Given the description of an element on the screen output the (x, y) to click on. 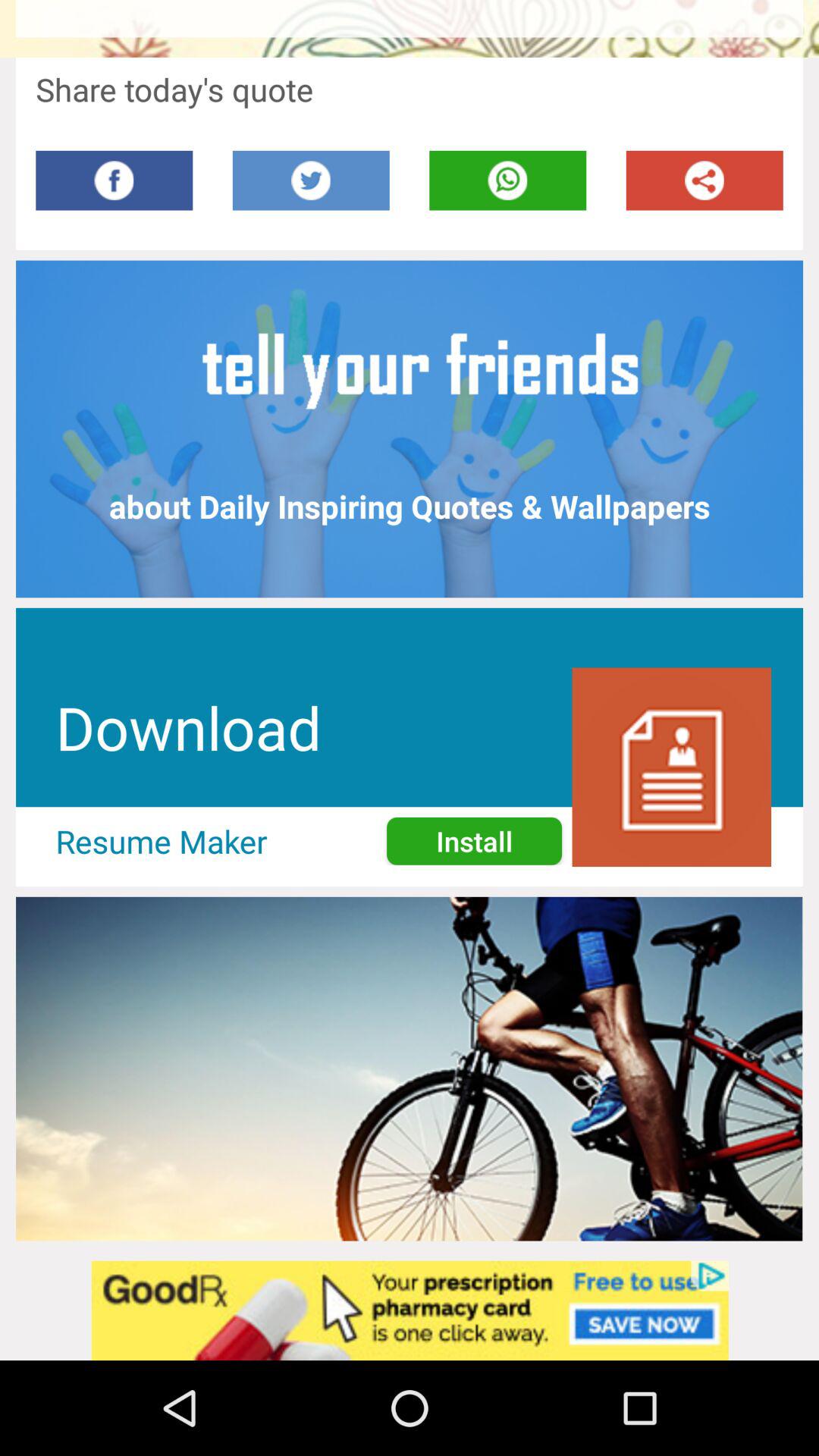
shareing icone (704, 180)
